Given the description of an element on the screen output the (x, y) to click on. 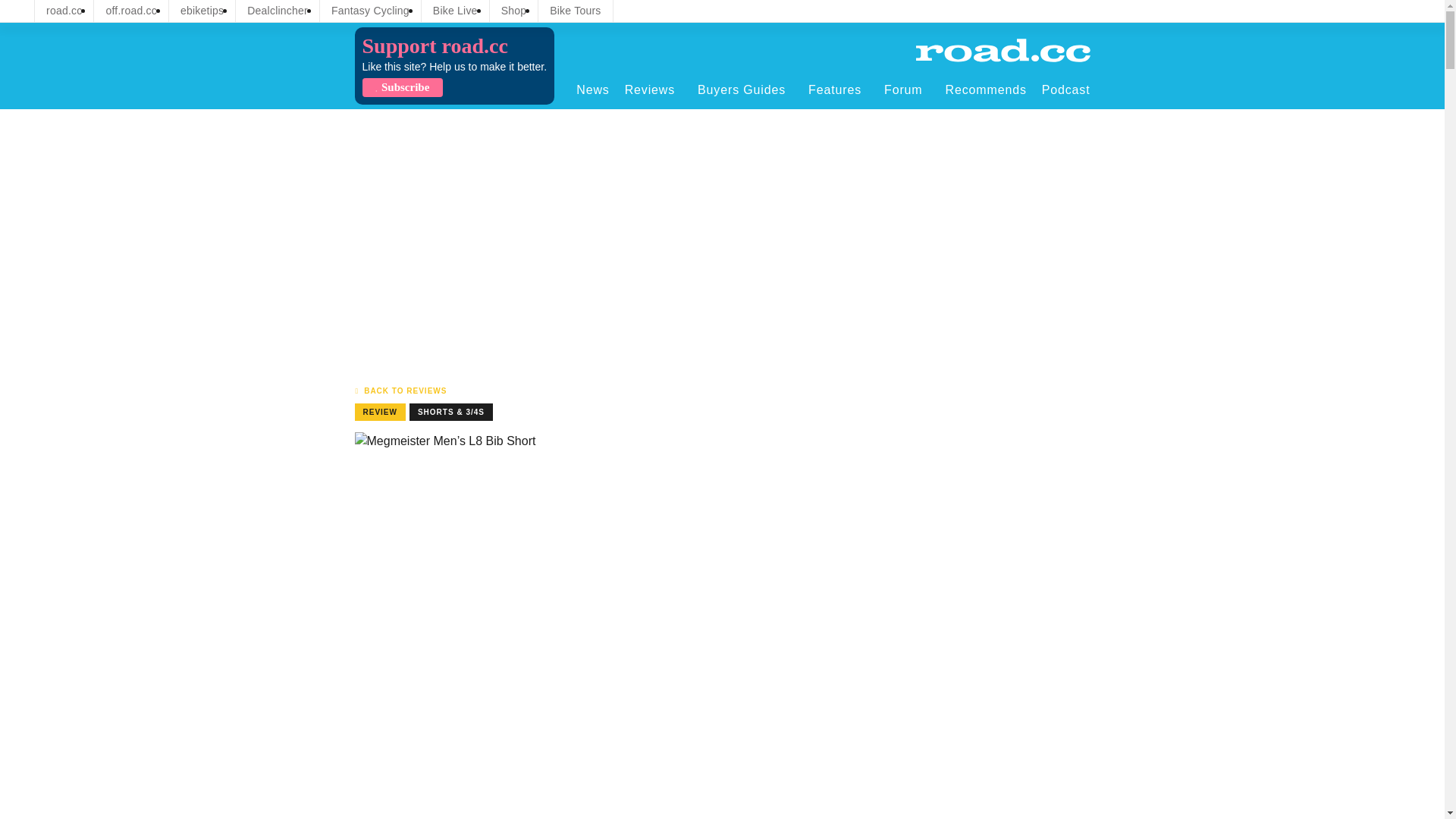
Bike Tours (574, 11)
Subscribe (402, 87)
road.cc (63, 11)
Home (1002, 50)
ebiketips (201, 11)
off.road.cc (131, 11)
Reviews (653, 89)
Shop (513, 11)
Dealclincher (276, 11)
Fantasy Cycling (370, 11)
